Given the description of an element on the screen output the (x, y) to click on. 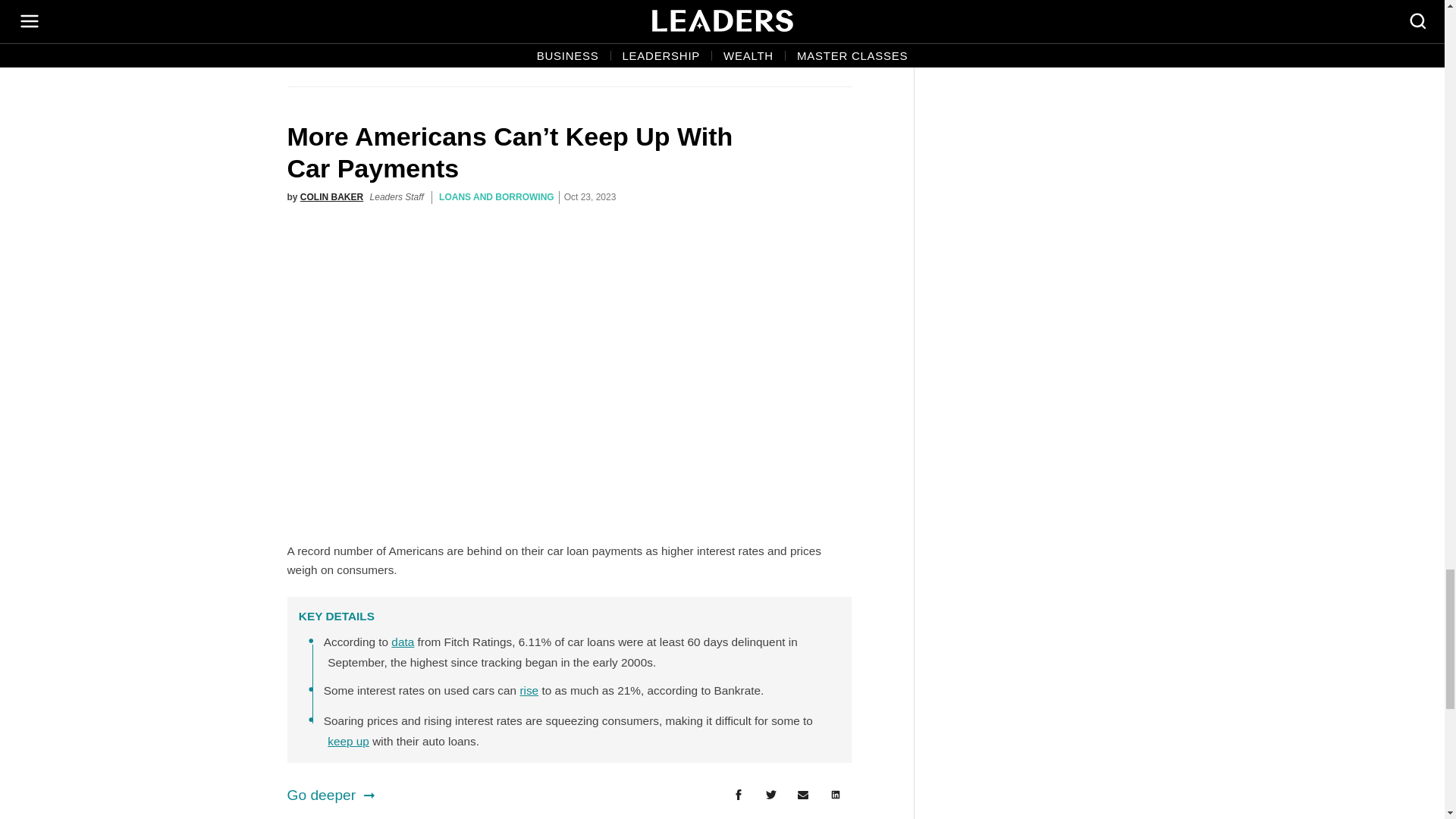
Share on Twitter (770, 795)
Share via Email (803, 42)
Share on LinkedIn (835, 795)
Share via Email (803, 795)
Share on Twitter (770, 42)
Share on Facebook (738, 795)
Share on Facebook (738, 42)
Share on LinkedIn (835, 42)
